Given the description of an element on the screen output the (x, y) to click on. 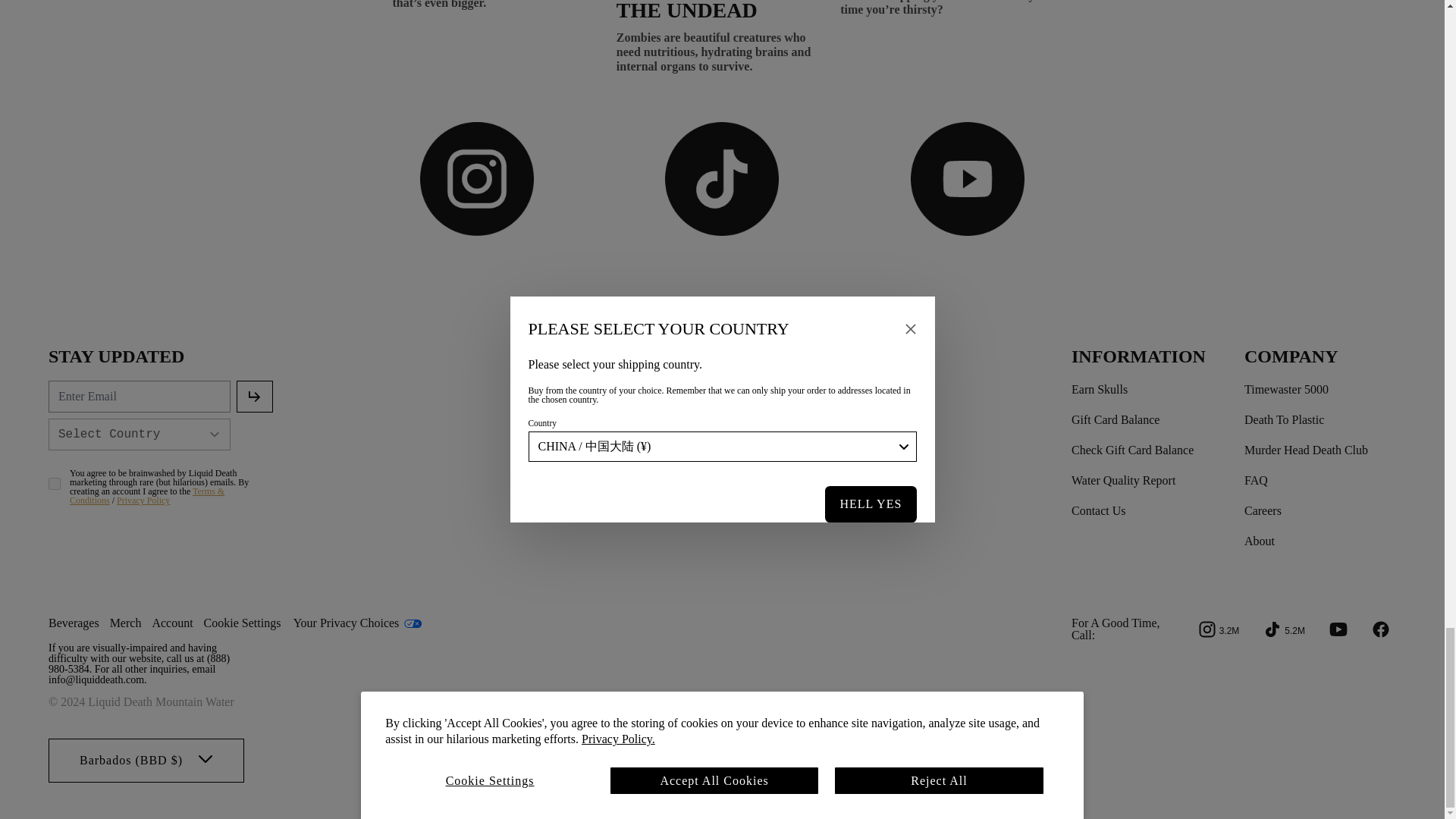
Submit (254, 396)
Email Customer Service (96, 679)
link to instagram (1219, 629)
link to tiktok (1284, 629)
on (54, 483)
Country Selector (139, 434)
link to facebook (1380, 629)
link to youtube (1338, 629)
